Given the description of an element on the screen output the (x, y) to click on. 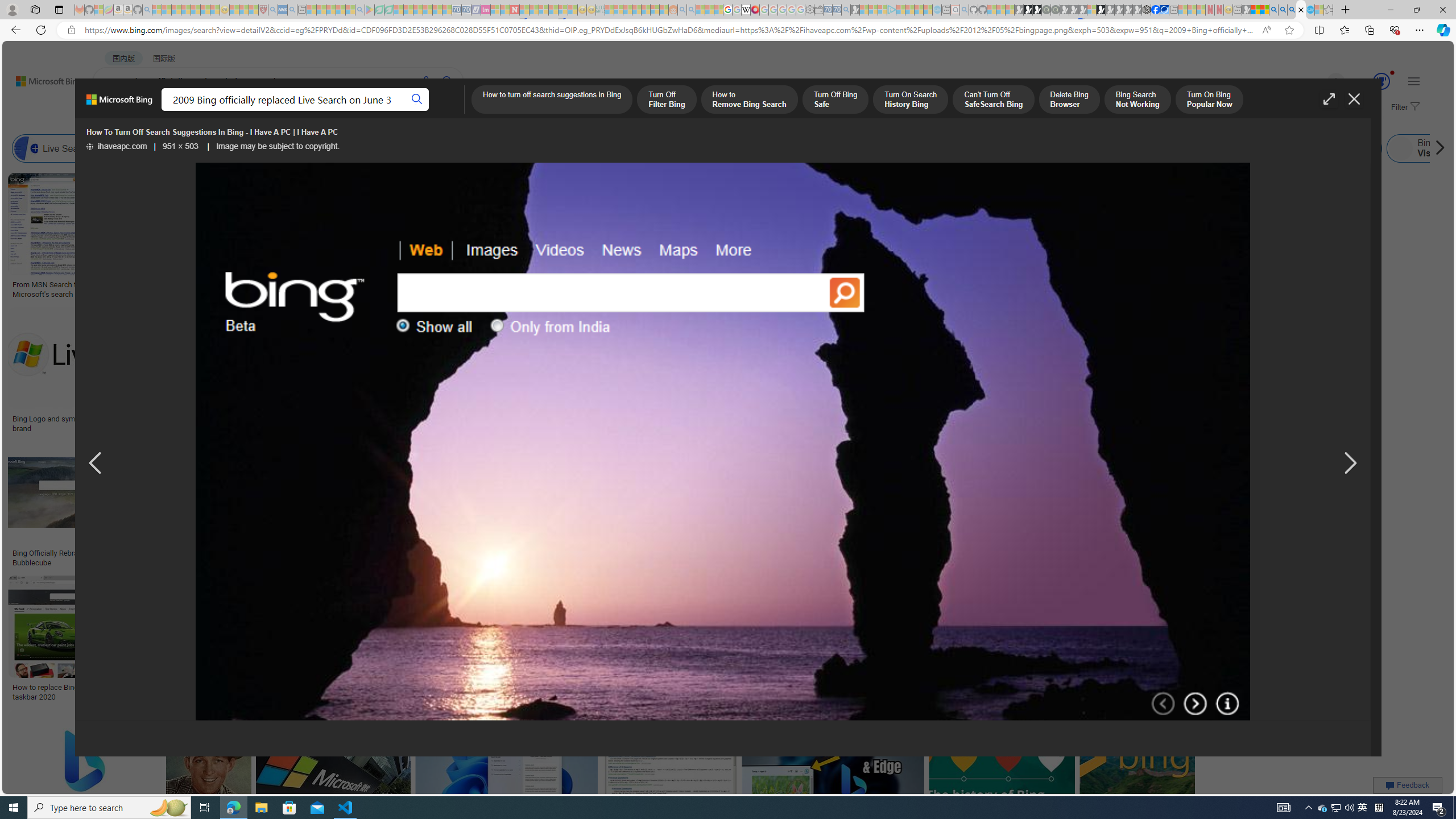
microsoft bing (1043, 419)
MY BING (156, 111)
Technology History timeline | Timetoast timelinesSave (835, 237)
Bing - SEOLendSave (280, 505)
Search button (417, 99)
Target page - Wikipedia (745, 9)
Close image (1352, 99)
